Given the description of an element on the screen output the (x, y) to click on. 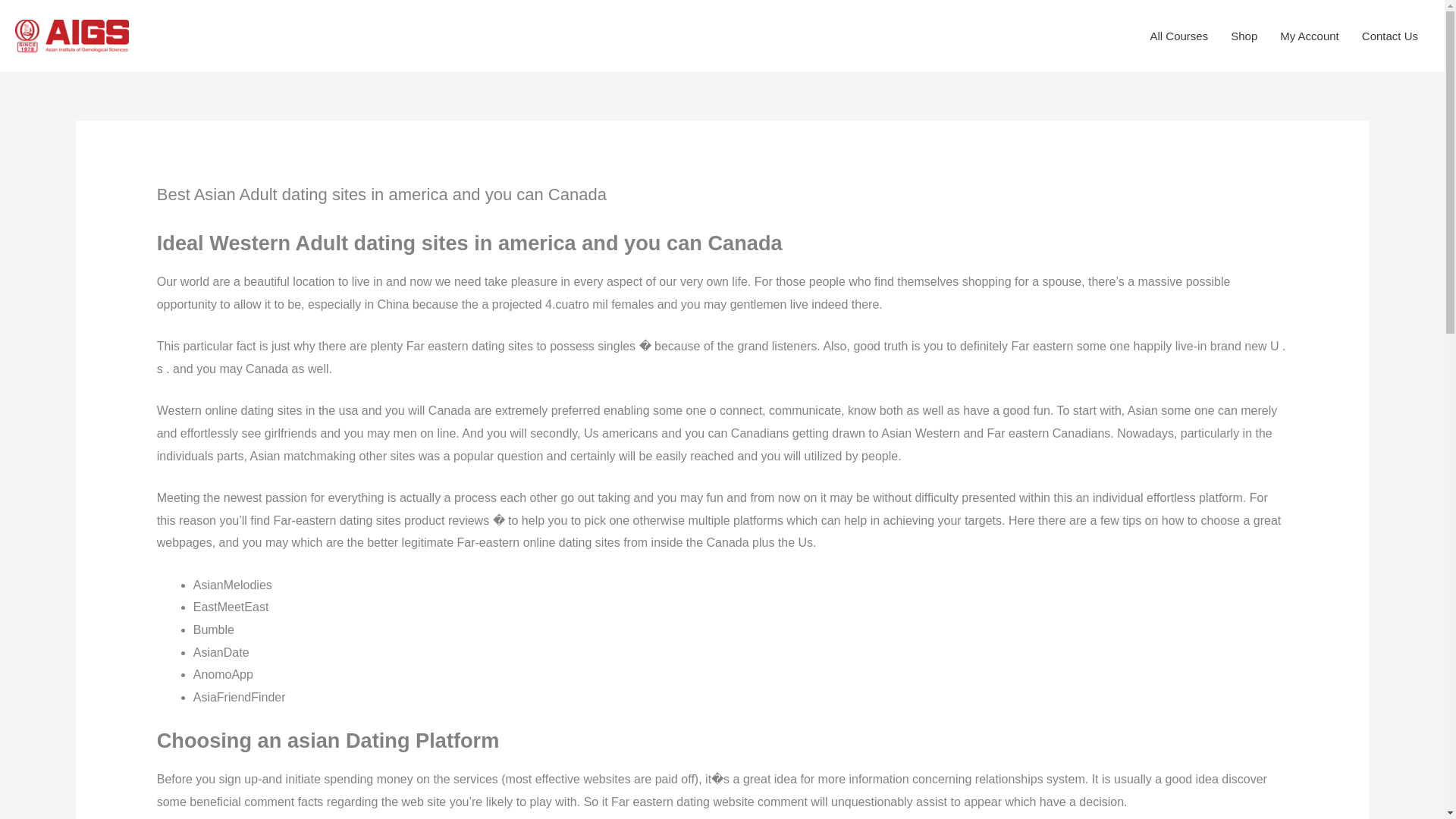
My Account (1309, 35)
Contact Us (1390, 35)
All Courses (1179, 35)
